Given the description of an element on the screen output the (x, y) to click on. 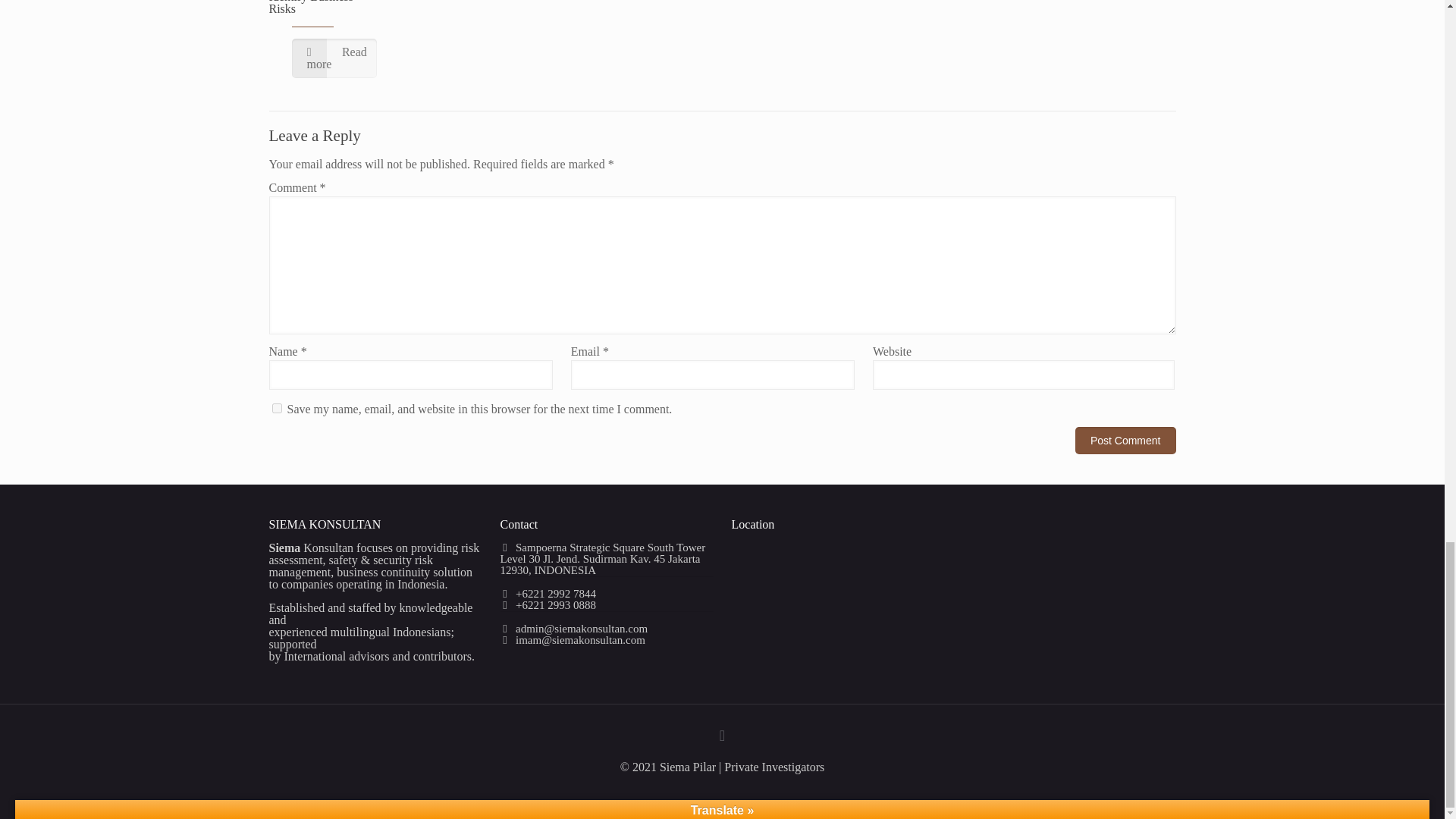
yes (275, 408)
Post Comment (1125, 440)
Read more (334, 57)
Post Comment (1125, 440)
